Given the description of an element on the screen output the (x, y) to click on. 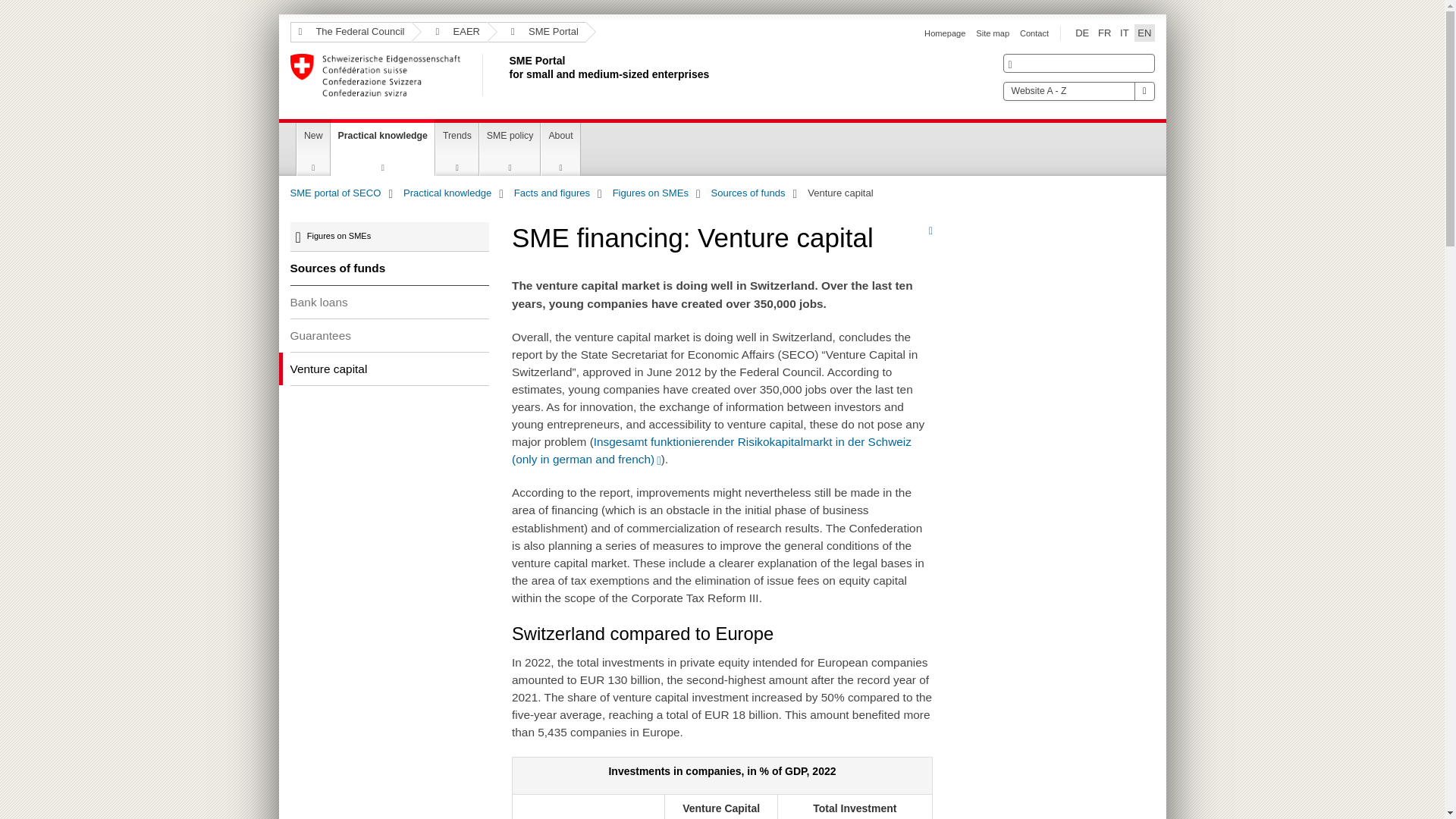
Contact (1034, 32)
SME Portal (536, 32)
French (1103, 32)
EN (1144, 32)
DE (1081, 32)
FR (1103, 32)
The Federal Council (350, 32)
German (1081, 32)
Homepage (944, 32)
Website A - Z (505, 75)
Site map (1078, 90)
EAER (992, 32)
